Given the description of an element on the screen output the (x, y) to click on. 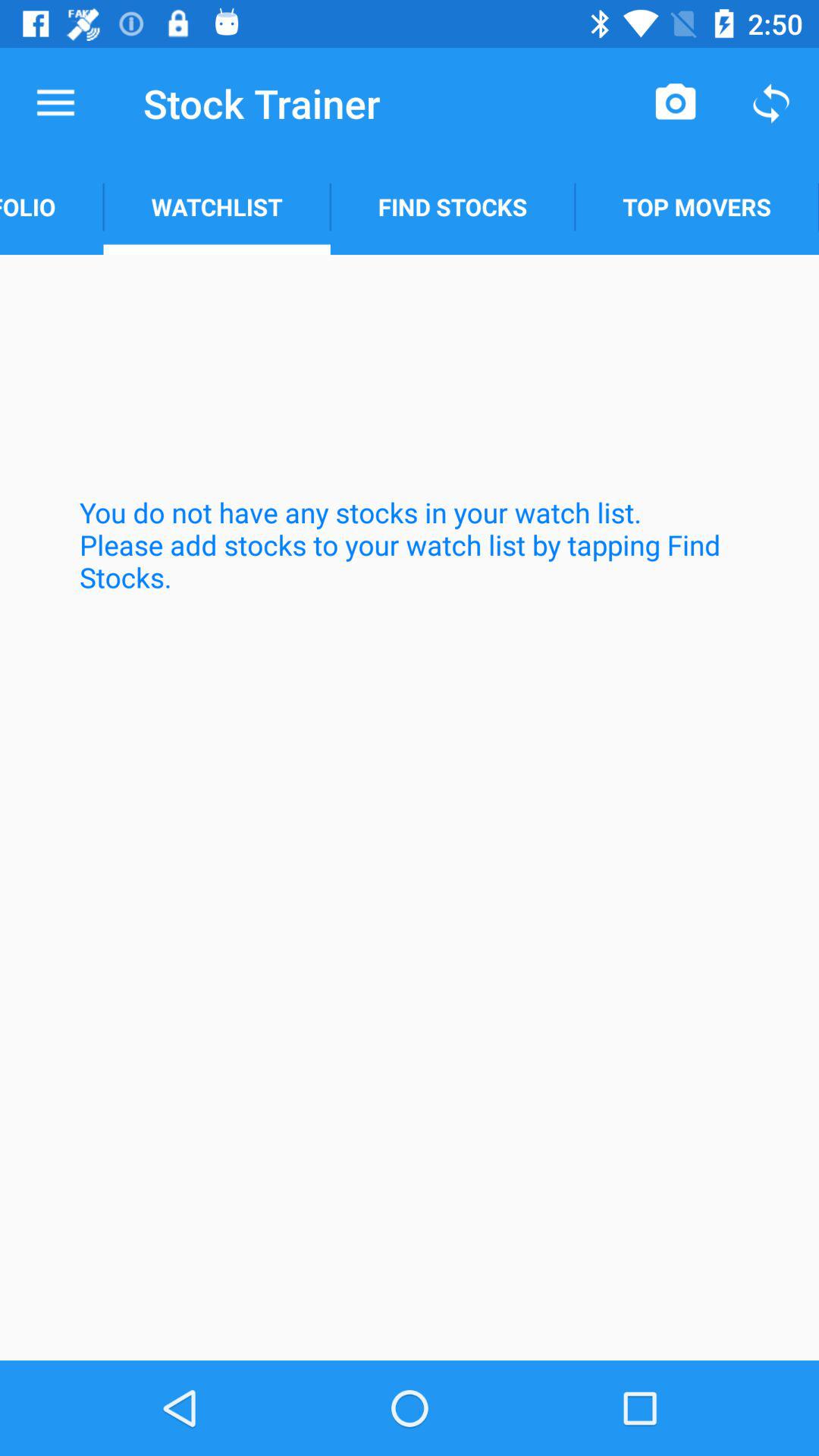
turn off the icon to the right of find stocks (697, 206)
